Given the description of an element on the screen output the (x, y) to click on. 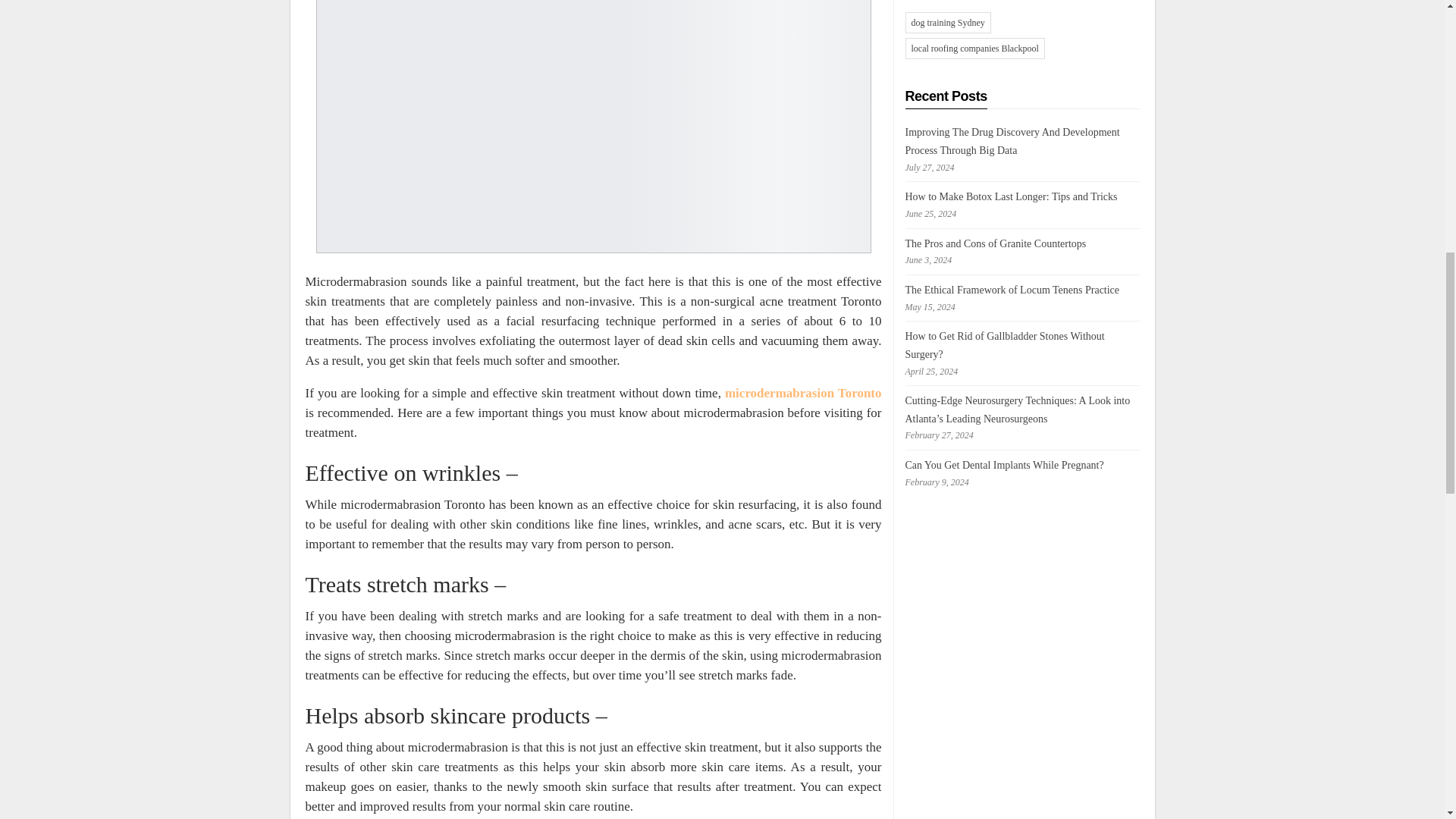
microdermabrasion Toronto (803, 392)
